Given the description of an element on the screen output the (x, y) to click on. 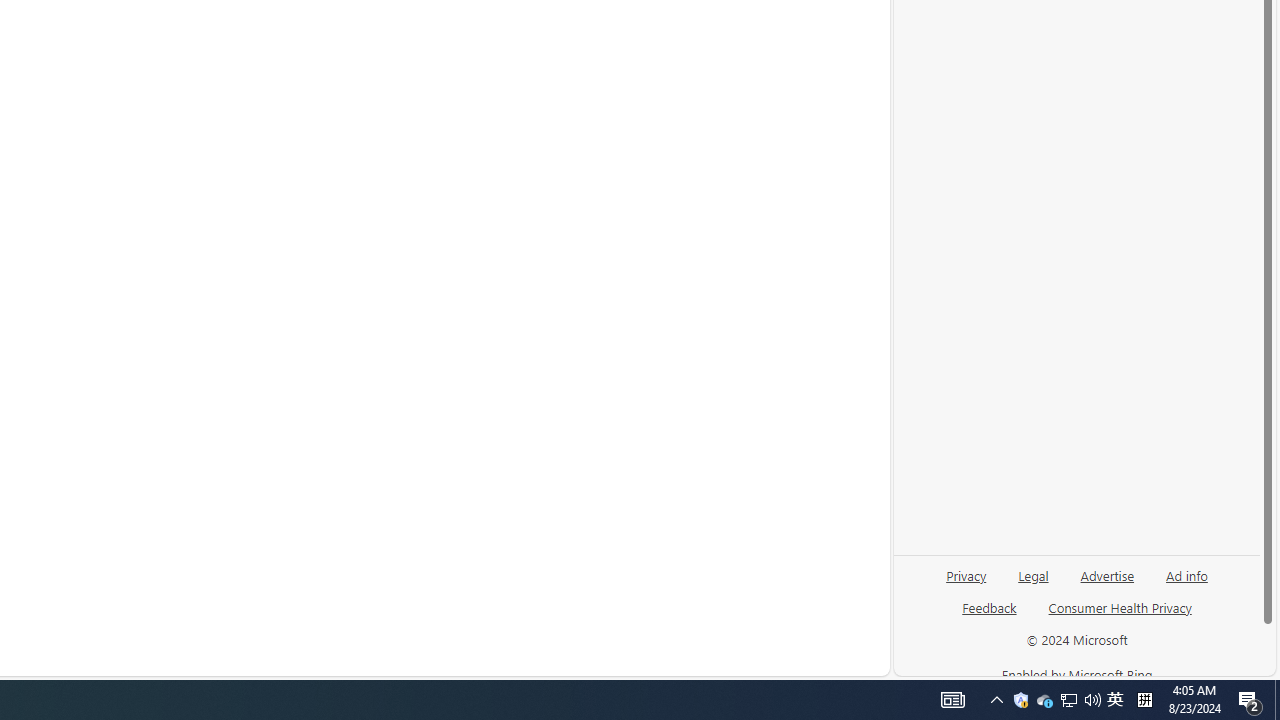
Ad info (1186, 583)
Privacy (965, 574)
Legal (1033, 583)
Consumer Health Privacy (1119, 615)
Consumer Health Privacy (1119, 607)
Legal (1033, 574)
Ad info (1187, 574)
Privacy (966, 583)
